Given the description of an element on the screen output the (x, y) to click on. 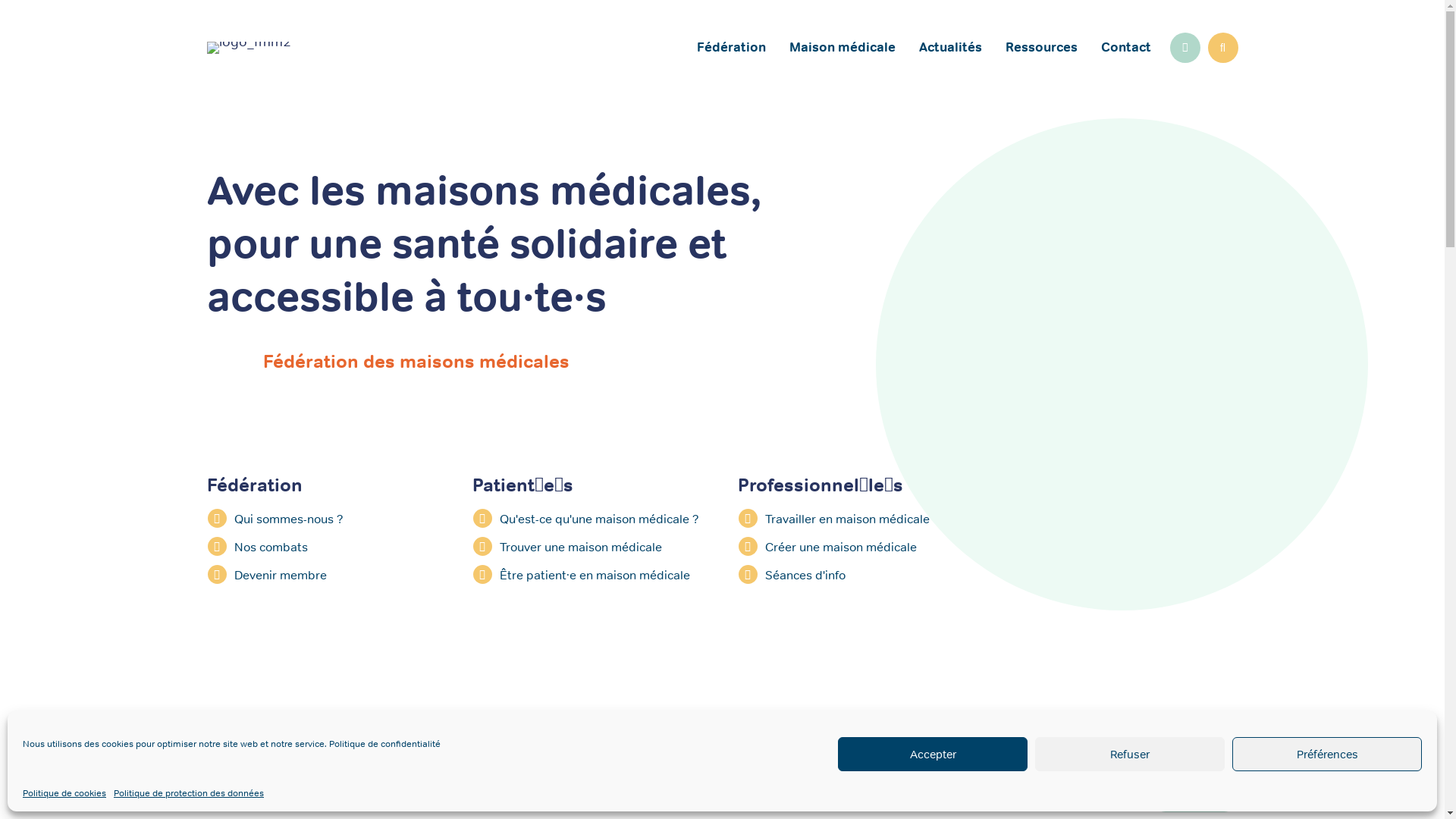
Devenir membre Element type: text (323, 574)
Accepter Element type: text (932, 754)
Qui sommes-nous ? Element type: text (323, 518)
logo_fmm2 Element type: hover (248, 47)
Politique de cookies Element type: text (64, 793)
Voir tous Element type: text (1194, 797)
fmm_dots Element type: hover (225, 363)
Refuser Element type: text (1129, 754)
Ressources Element type: text (1040, 47)
Nos combats Element type: text (323, 546)
Contact Element type: text (1124, 47)
fmm_deco_sparkles Element type: hover (1050, 197)
